Given the description of an element on the screen output the (x, y) to click on. 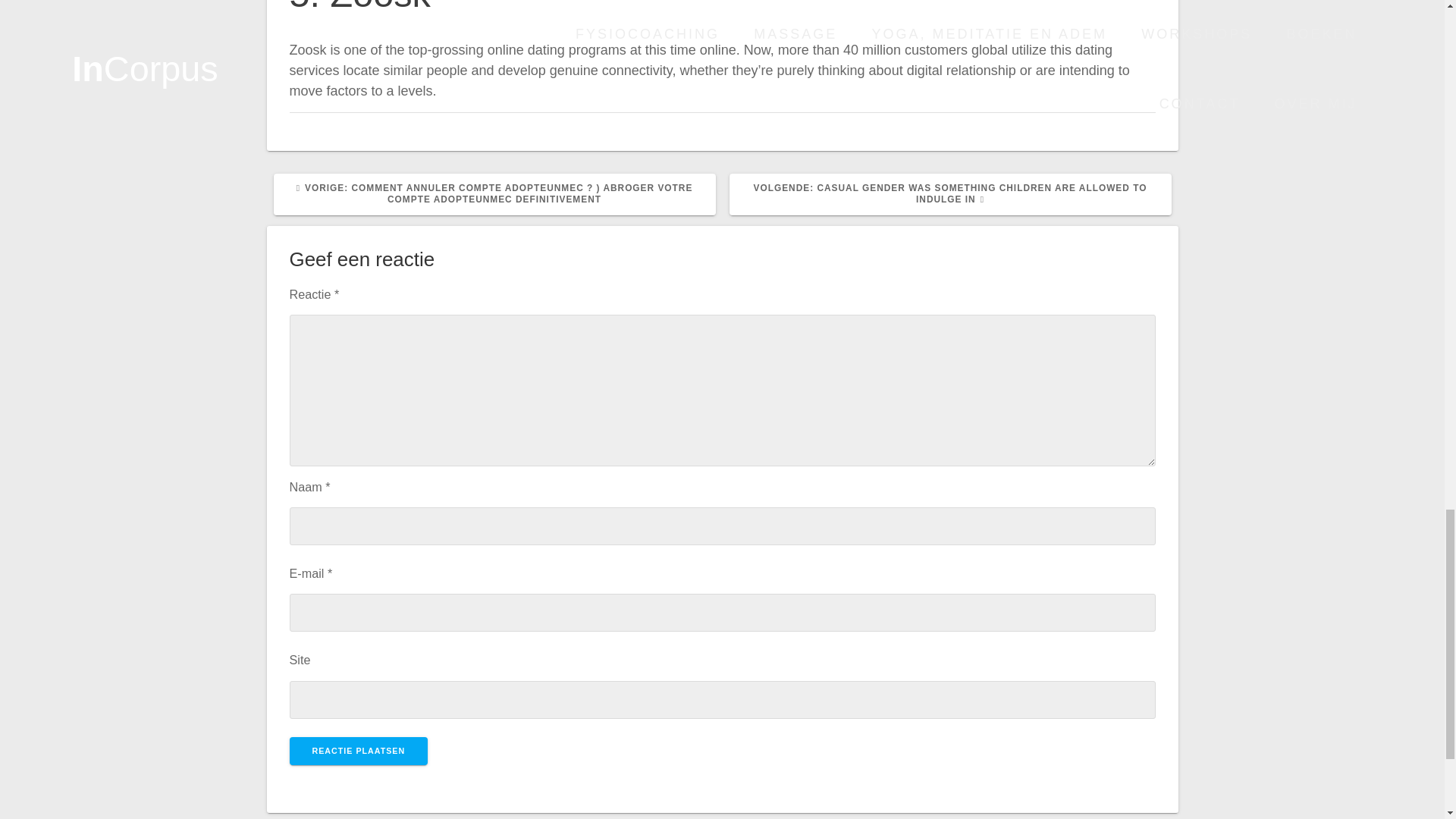
Reactie plaatsen (358, 751)
Reactie plaatsen (358, 751)
